Given the description of an element on the screen output the (x, y) to click on. 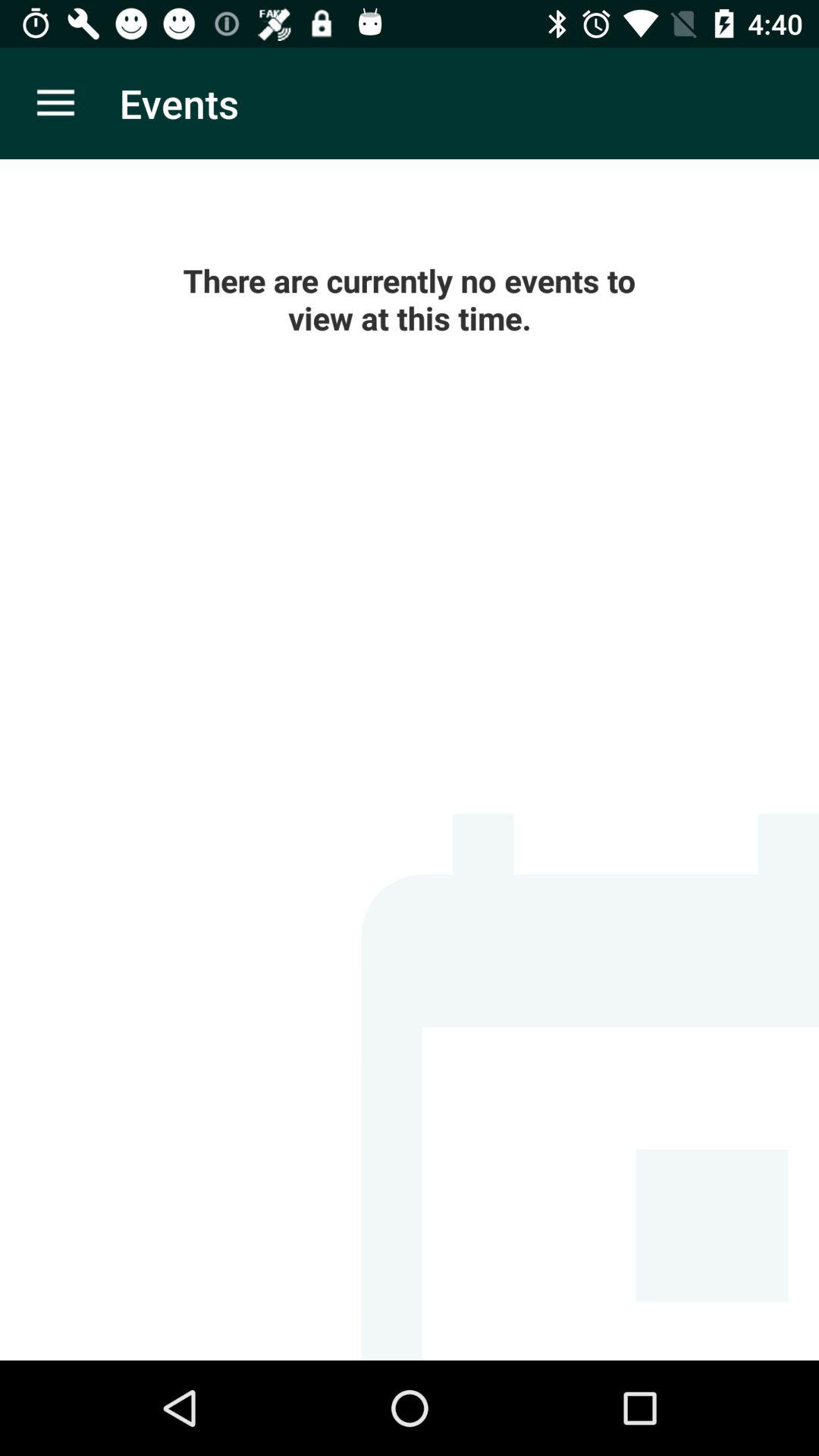
launch the icon next to the events (55, 103)
